Given the description of an element on the screen output the (x, y) to click on. 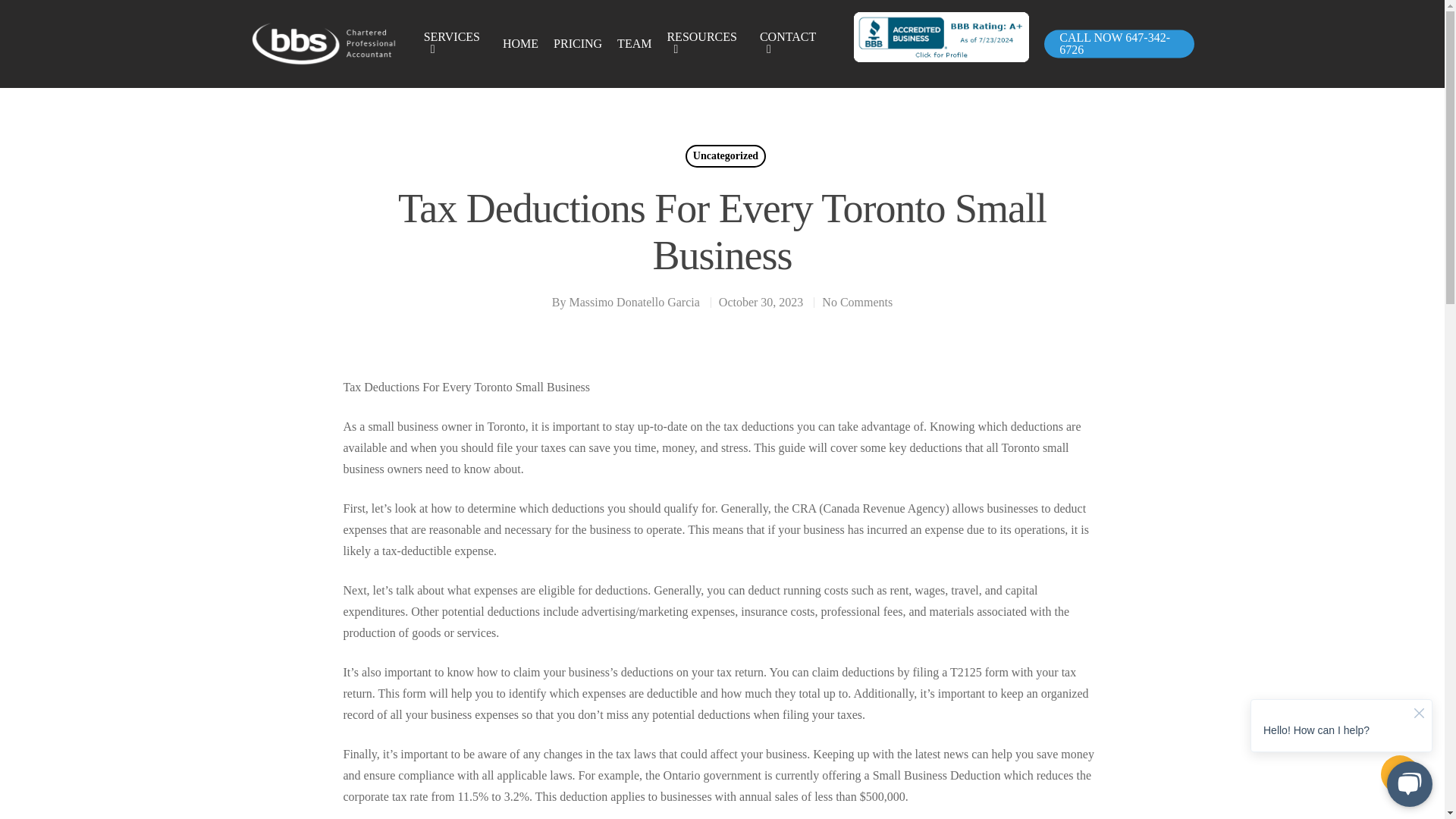
Uncategorized (725, 155)
Posts by Massimo Donatello Garcia (633, 301)
RESOURCES (705, 43)
TEAM (633, 43)
HOME (520, 43)
No Comments (857, 301)
PRICING (577, 43)
CALL NOW 647-342-6726 (1118, 43)
SERVICES (455, 43)
CONTACT (792, 43)
Massimo Donatello Garcia (633, 301)
